Given the description of an element on the screen output the (x, y) to click on. 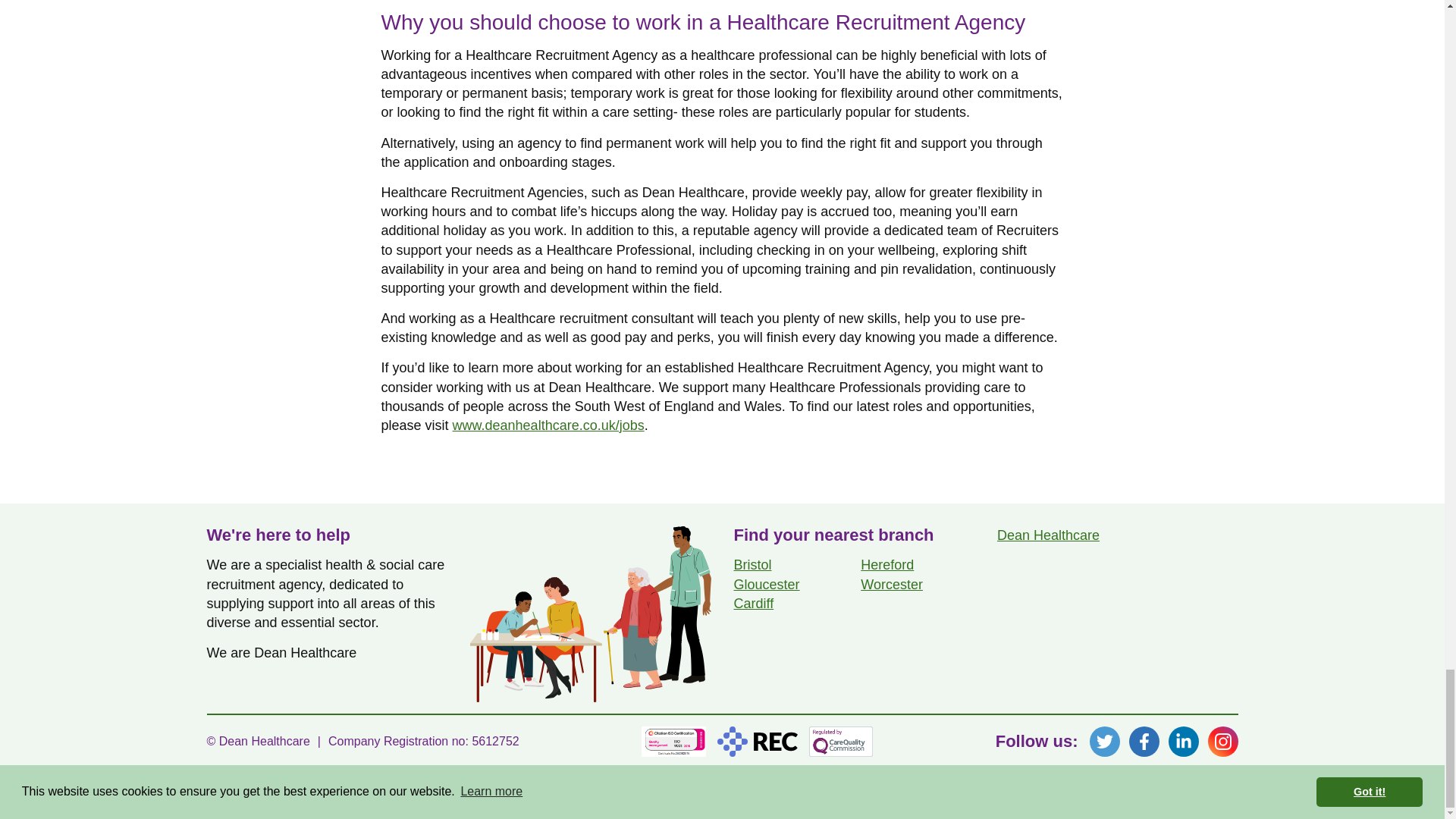
Gloucester (766, 584)
Facebook (1143, 741)
Twitter (1104, 741)
Cardiff (753, 603)
LinkedIn (1182, 741)
Twitter (1104, 741)
Instagram (1222, 741)
Bristol (752, 564)
Worcester (891, 584)
LinkedIn (1182, 741)
Instagram (1222, 741)
Dean Healthcare (1048, 534)
Absolutely (1210, 798)
Facebook (1143, 741)
Hereford (887, 564)
